Given the description of an element on the screen output the (x, y) to click on. 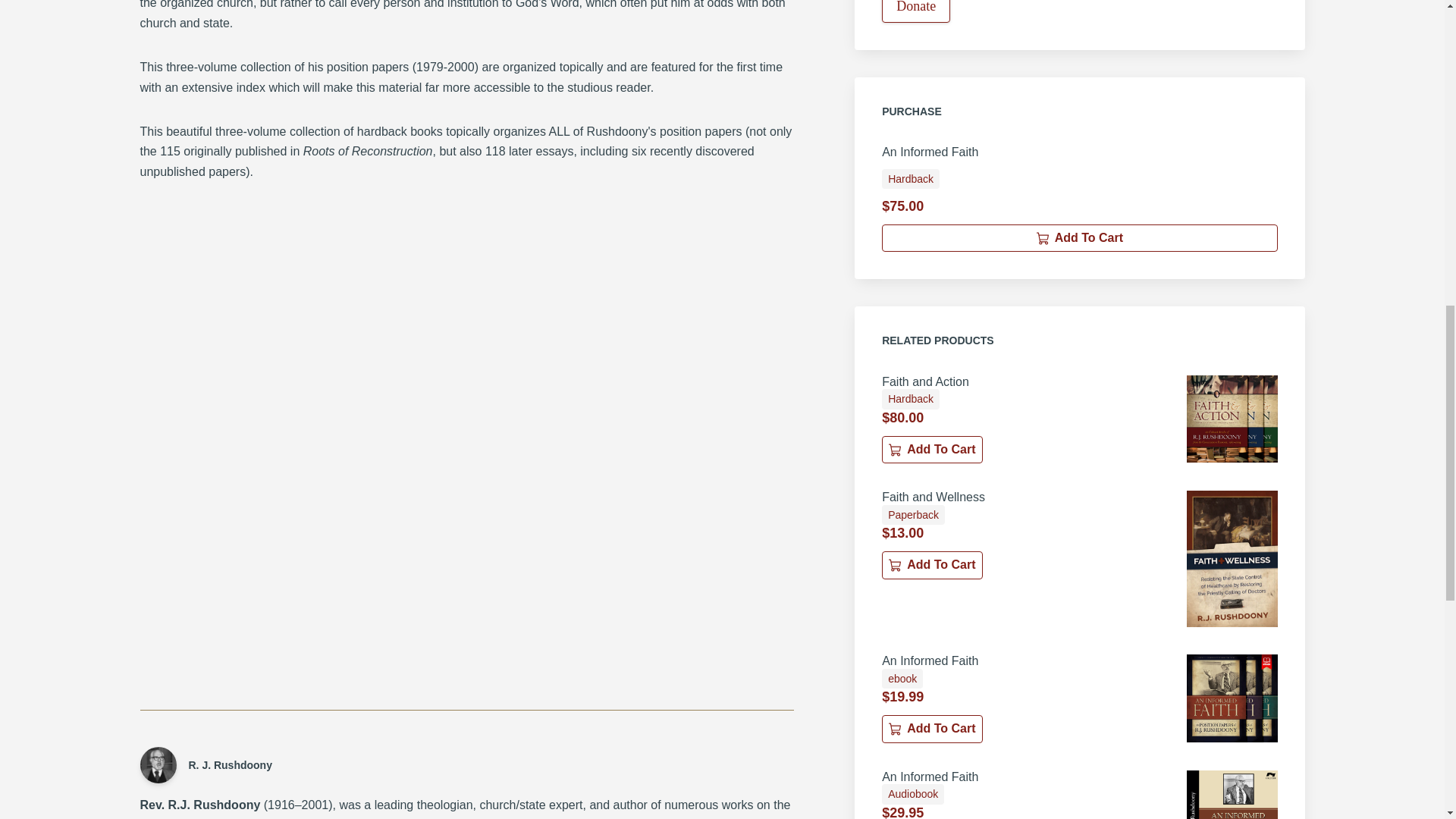
Add To Cart (1079, 237)
Add To Cart (931, 728)
Add To Cart (931, 564)
Add To Cart (931, 449)
Donate (916, 11)
